Given the description of an element on the screen output the (x, y) to click on. 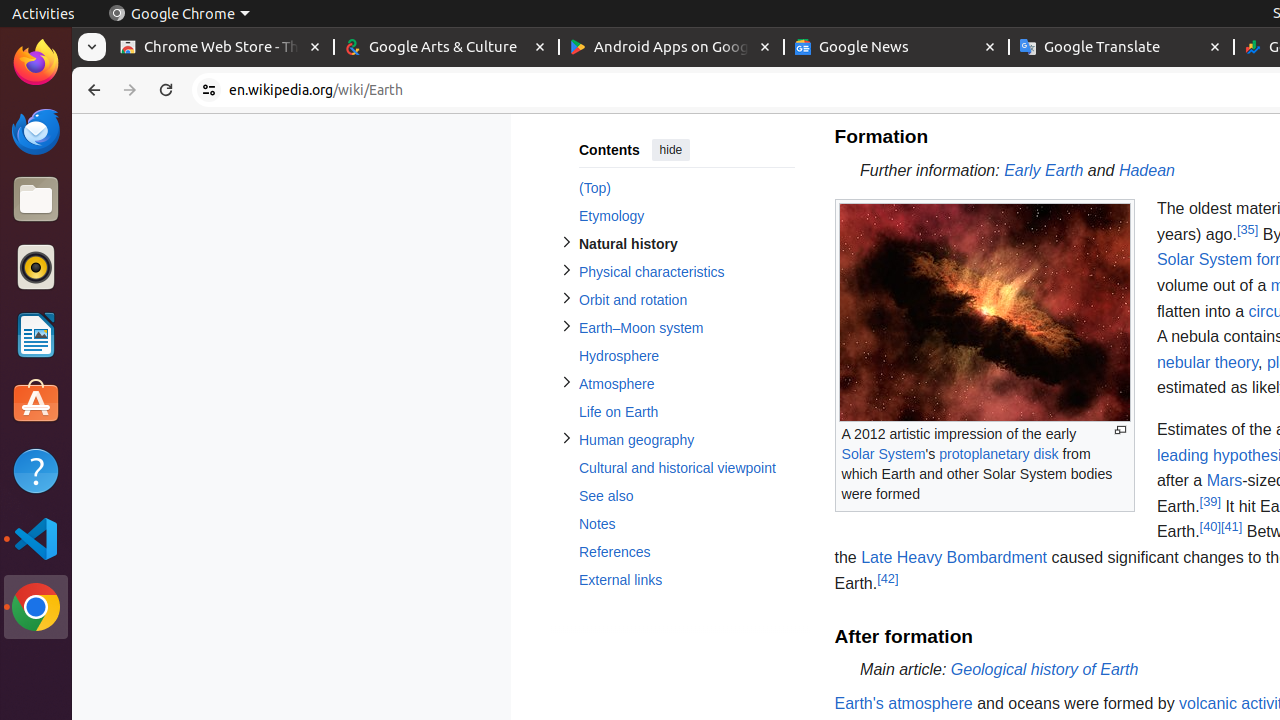
Orbit and rotation Element type: link (686, 300)
Life on Earth Element type: link (686, 412)
Early Earth Element type: link (1044, 170)
Toggle Physical characteristics subsection Element type: push-button (566, 270)
Android Apps on Google Play - Memory usage - 68.6 MB Element type: page-tab (671, 47)
